Given the description of an element on the screen output the (x, y) to click on. 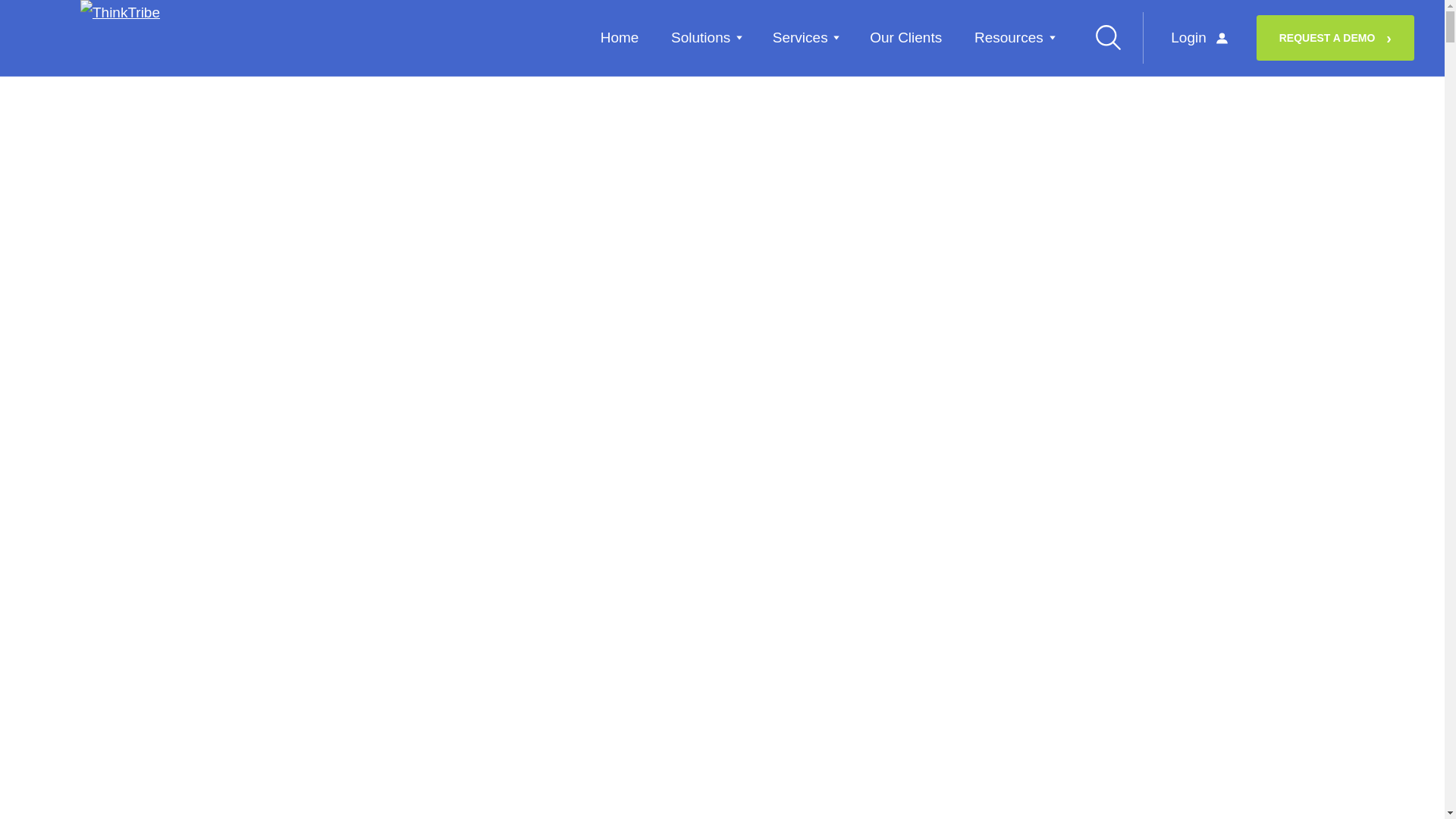
Search (1107, 37)
Login (1199, 38)
Resources (1012, 37)
Our Clients (906, 37)
REQUEST A DEMO (1334, 37)
Home (619, 37)
Services (804, 37)
Skip to content (40, 10)
Solutions (705, 37)
